Given the description of an element on the screen output the (x, y) to click on. 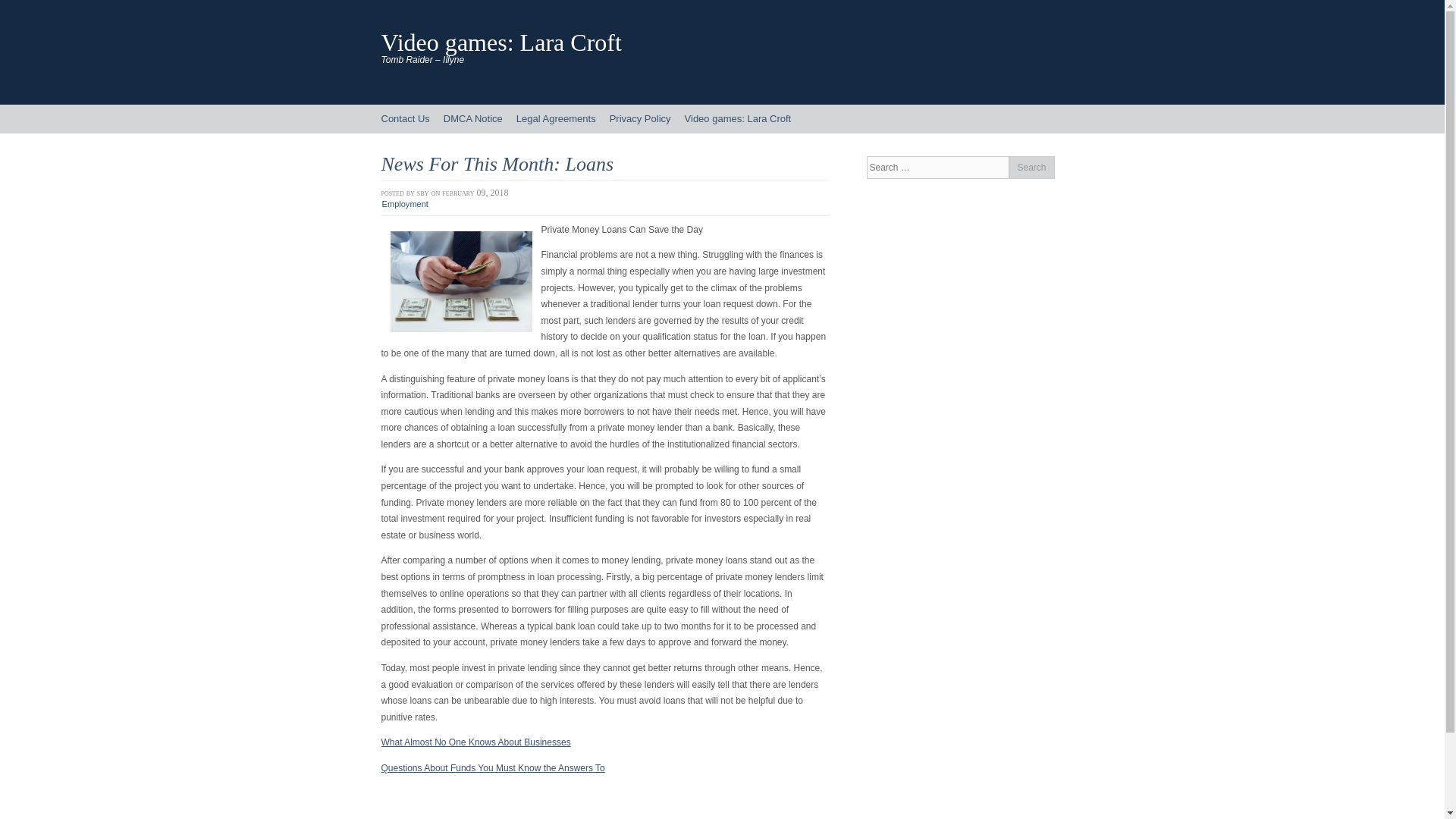
Search (1031, 167)
Video games: Lara Croft (738, 118)
Search (1031, 167)
Video games: Lara Croft (500, 42)
What Almost No One Knows About Businesses (475, 742)
Privacy Policy (640, 118)
Legal Agreements (555, 118)
Search (1031, 167)
News For This Month: Loans (496, 164)
Contact Us (404, 118)
DMCA Notice (473, 118)
Questions About Funds You Must Know the Answers To (492, 767)
Employment (404, 204)
